Given the description of an element on the screen output the (x, y) to click on. 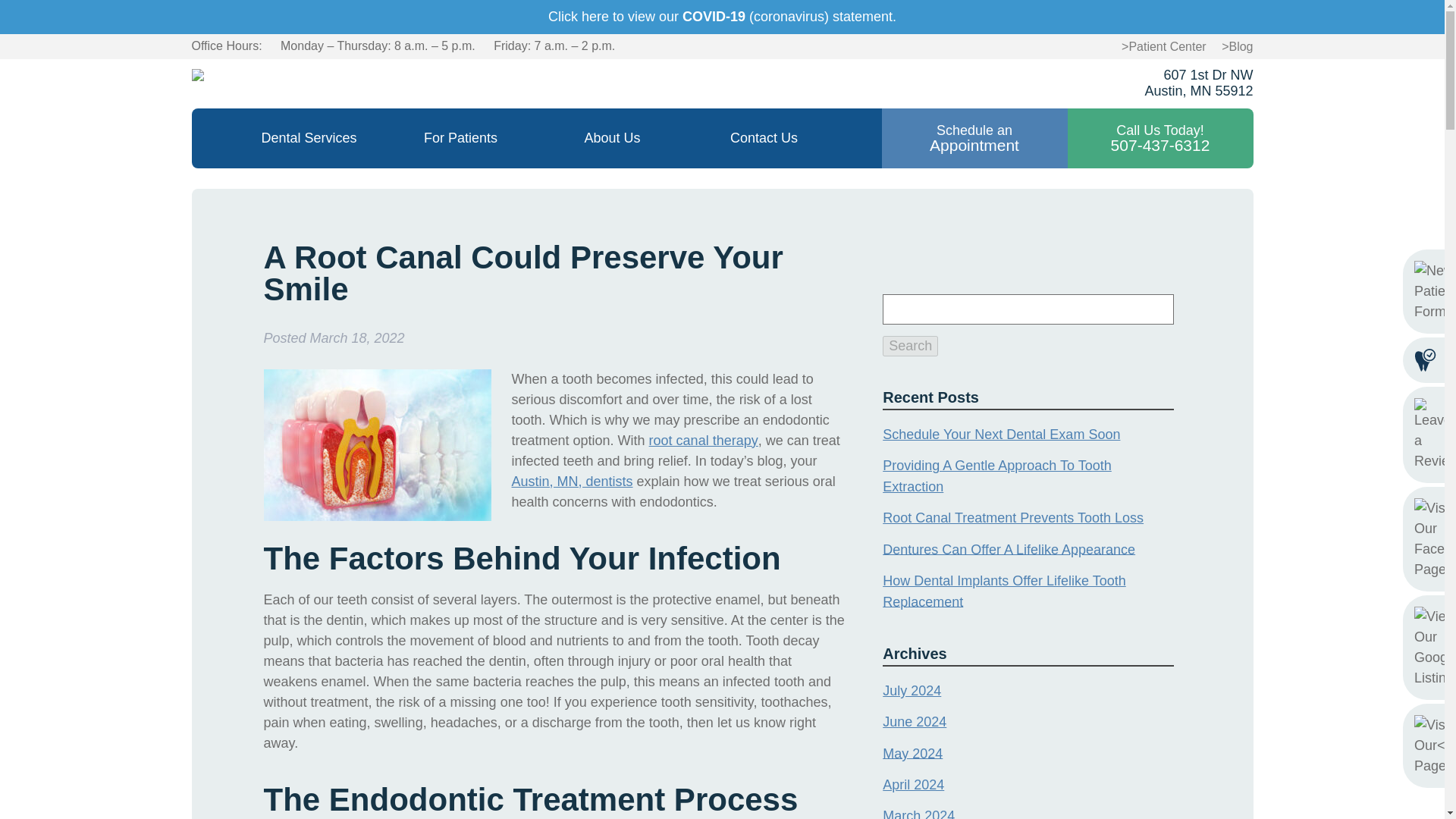
Preventing Infection-Related Tooth Loss With A Root Canal (703, 440)
